Given the description of an element on the screen output the (x, y) to click on. 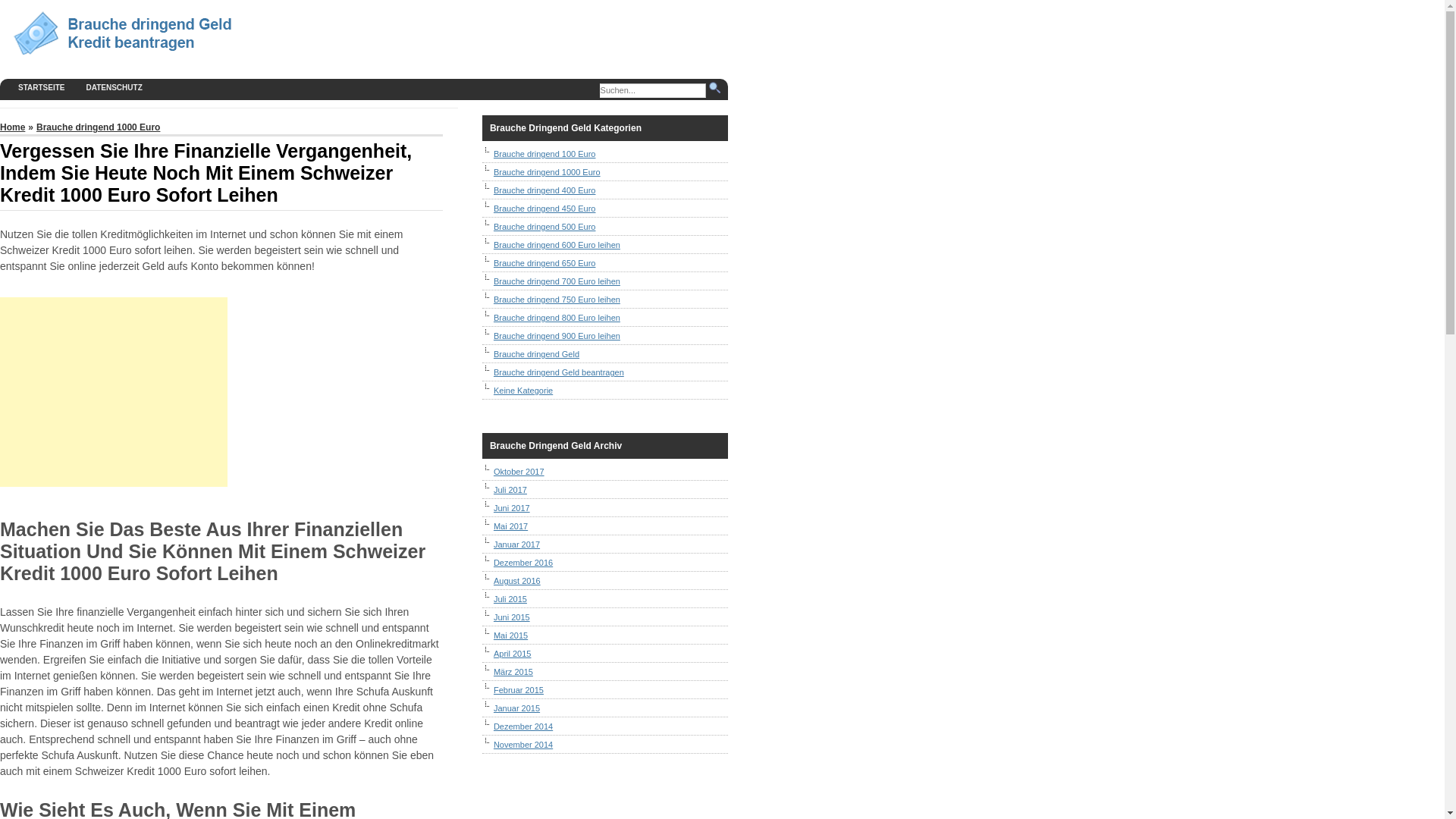
April 2015 Element type: text (512, 653)
Brauche dringend 1000 Euro Element type: text (546, 171)
Brauche dringend 450 Euro Element type: text (544, 208)
Brauche dringend 800 Euro leihen Element type: text (556, 317)
Home Element type: text (12, 127)
Brauche dringend 650 Euro Element type: text (544, 262)
Oktober 2017 Element type: text (518, 471)
Dezember 2016 Element type: text (522, 562)
August 2016 Element type: text (516, 580)
Januar 2015 Element type: text (516, 707)
Brauche dringend 750 Euro leihen Element type: text (556, 299)
Keine Kategorie Element type: text (522, 390)
Juni 2015 Element type: text (511, 616)
DATENSCHUTZ Element type: text (113, 87)
Brauche dringend 700 Euro leihen Element type: text (556, 280)
Juli 2015 Element type: text (510, 598)
Mai 2017 Element type: text (510, 525)
Dezember 2014 Element type: text (522, 726)
Mai 2015 Element type: text (510, 635)
Juni 2017 Element type: text (511, 507)
Brauche dringend 400 Euro Element type: text (544, 189)
Brauche dringend 600 Euro leihen Element type: text (556, 244)
Skip to content Element type: text (0, 0)
STARTSEITE Element type: text (41, 87)
November 2014 Element type: text (522, 744)
Februar 2015 Element type: text (518, 689)
Brauche dringend Geld beantragen Element type: text (558, 371)
Brauche dringend Geld Element type: text (536, 353)
Advertisement Element type: hover (113, 391)
Januar 2017 Element type: text (516, 544)
Brauche dringend 500 Euro Element type: text (544, 226)
Brauche dringend 900 Euro leihen Element type: text (556, 335)
Juli 2017 Element type: text (510, 489)
Brauche dringend 100 Euro Element type: text (544, 153)
Brauche dringend 1000 Euro Element type: text (98, 127)
